Given the description of an element on the screen output the (x, y) to click on. 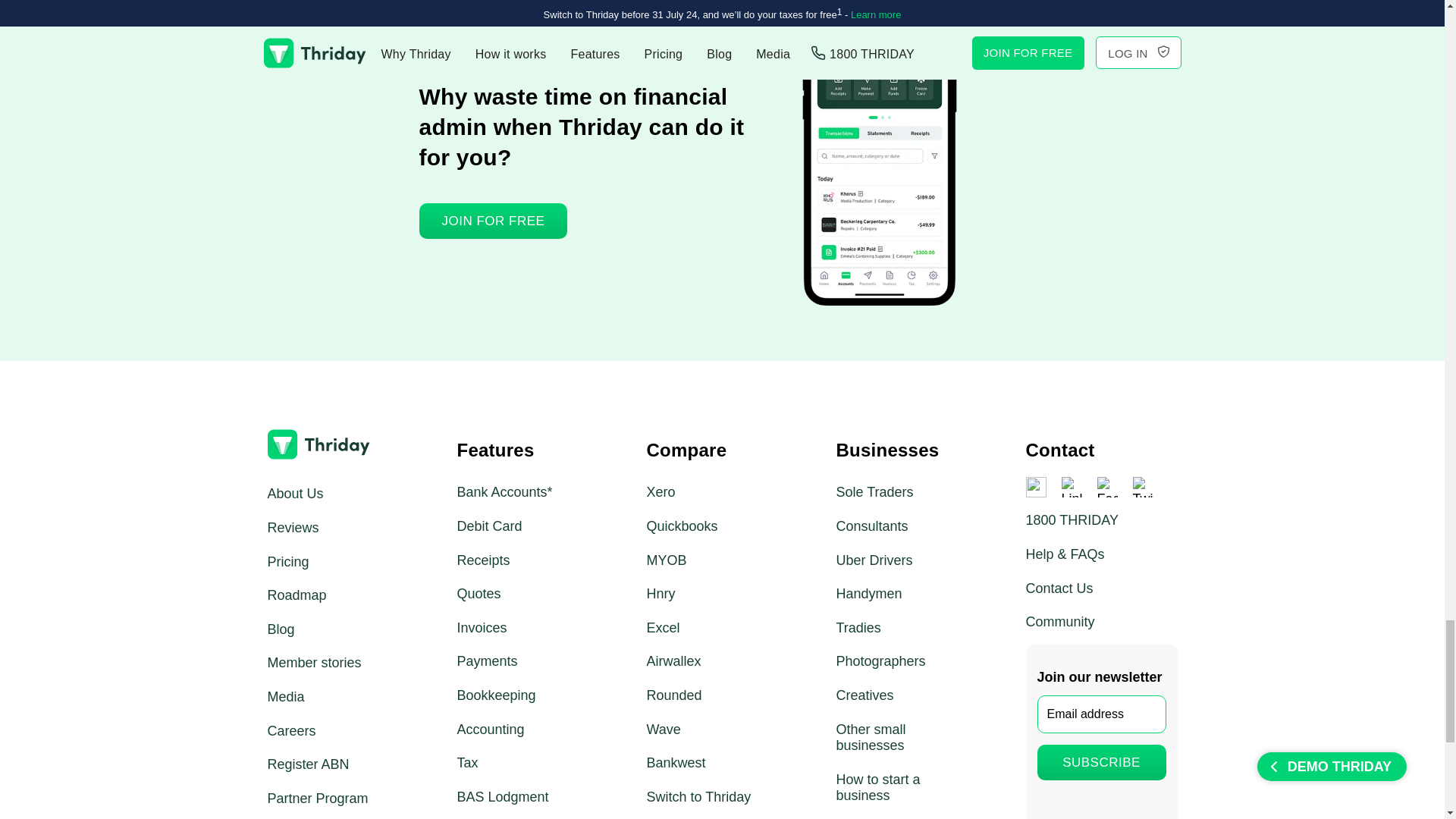
SUBSCRIBE (1101, 762)
